Given the description of an element on the screen output the (x, y) to click on. 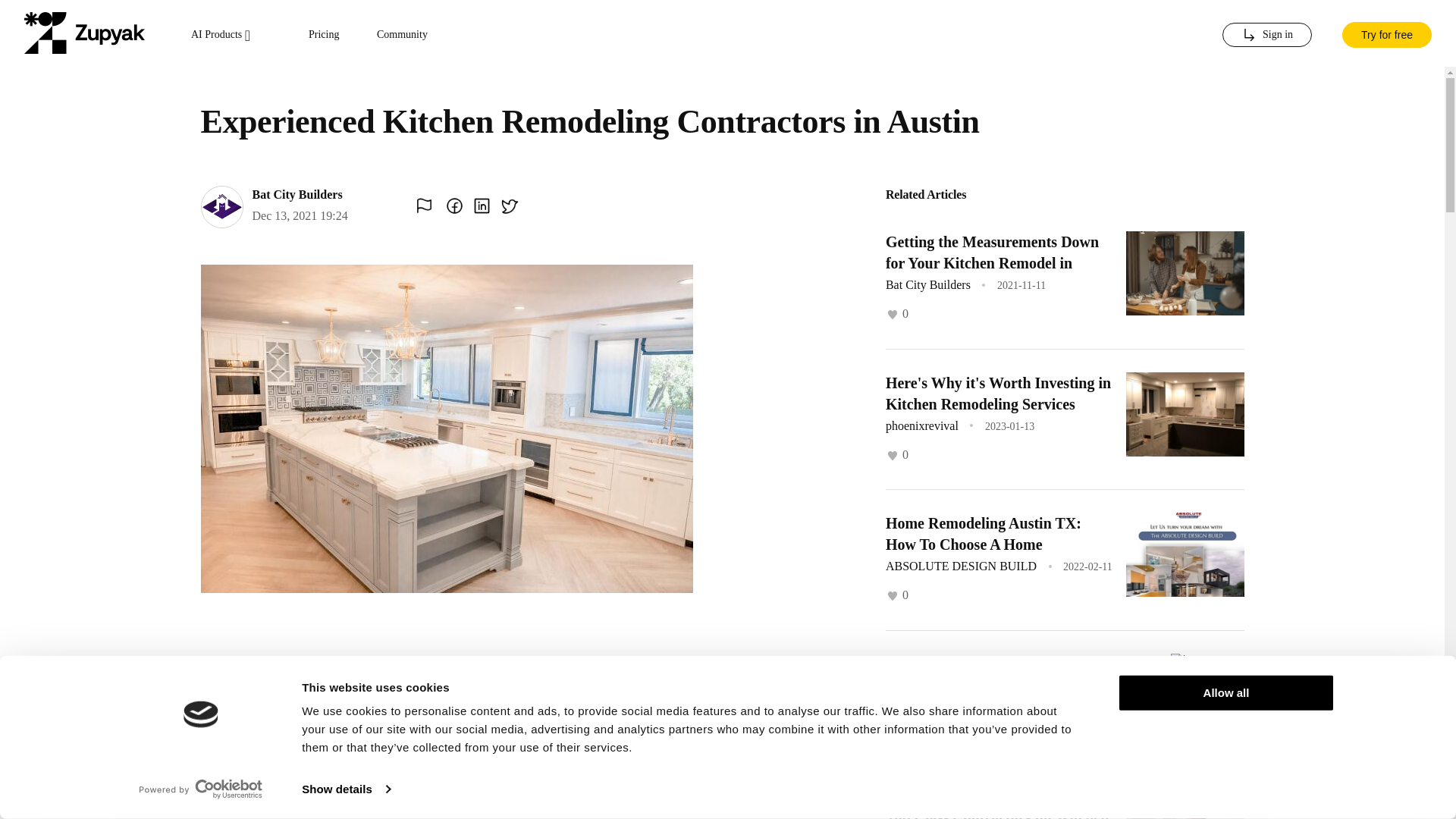
Show details (345, 789)
